Given the description of an element on the screen output the (x, y) to click on. 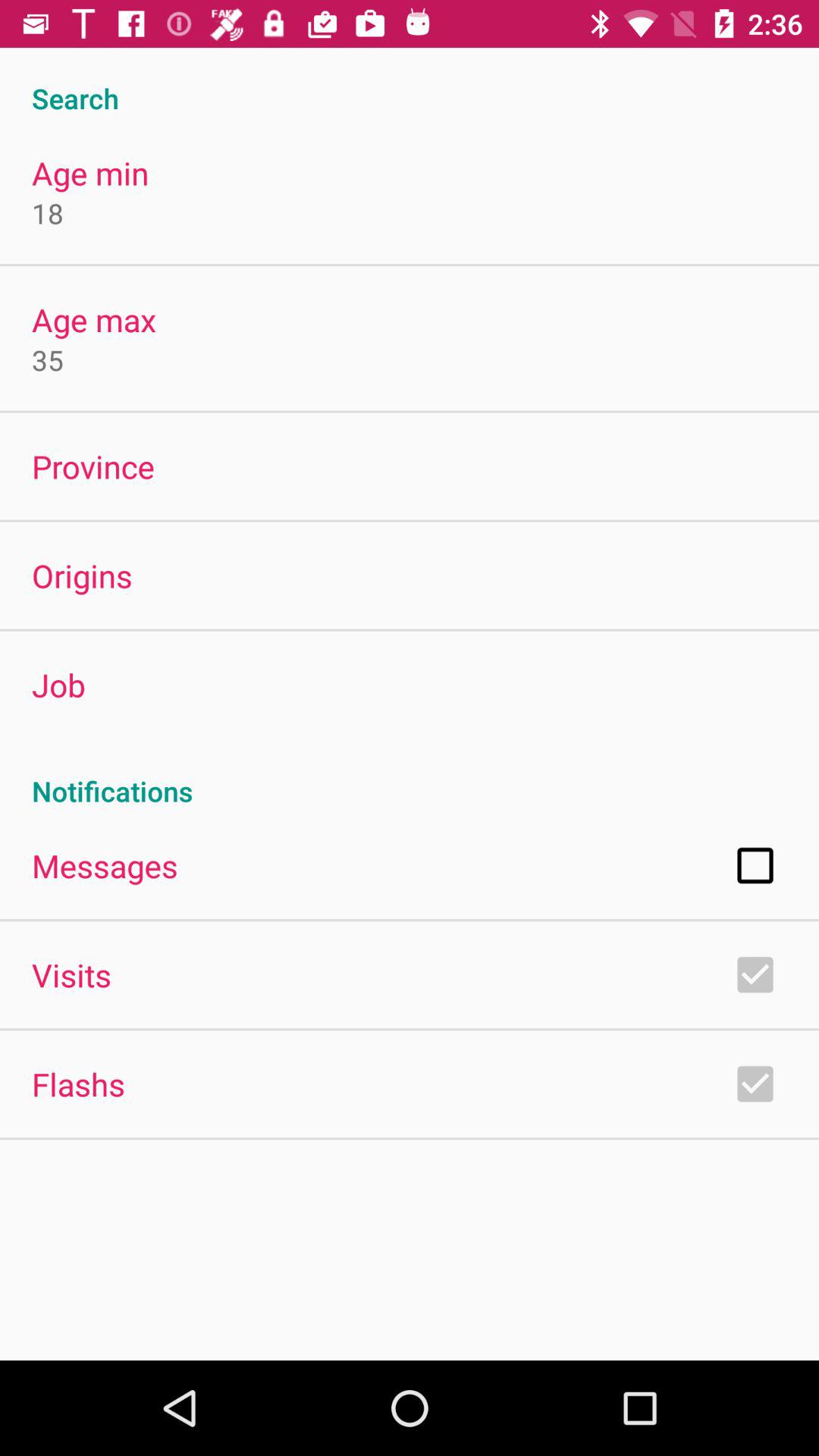
open 18 item (47, 213)
